Given the description of an element on the screen output the (x, y) to click on. 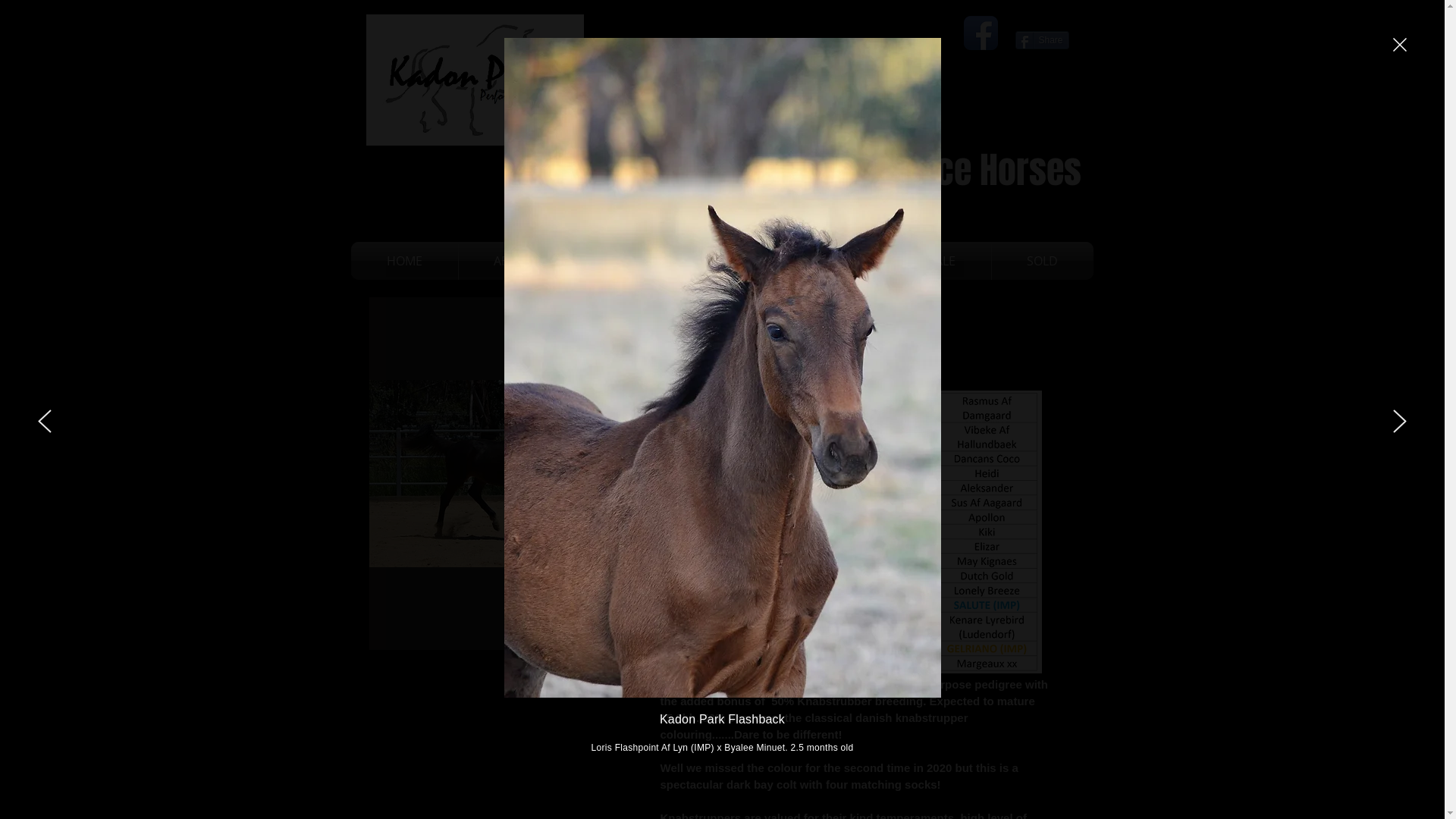
SOLD Element type: text (1042, 260)
TWIPLA (Visitor Analytics) Element type: hover (1019, 123)
Bijou.png Element type: hover (854, 530)
YOUNGSTOCK FOR SALE Element type: text (886, 260)
Facebook Like Element type: hover (1043, 17)
MEET THE BROODMARES Element type: text (676, 260)
HOME Element type: text (403, 260)
Share Element type: text (1041, 39)
ABOUT Element type: text (513, 260)
